Given the description of an element on the screen output the (x, y) to click on. 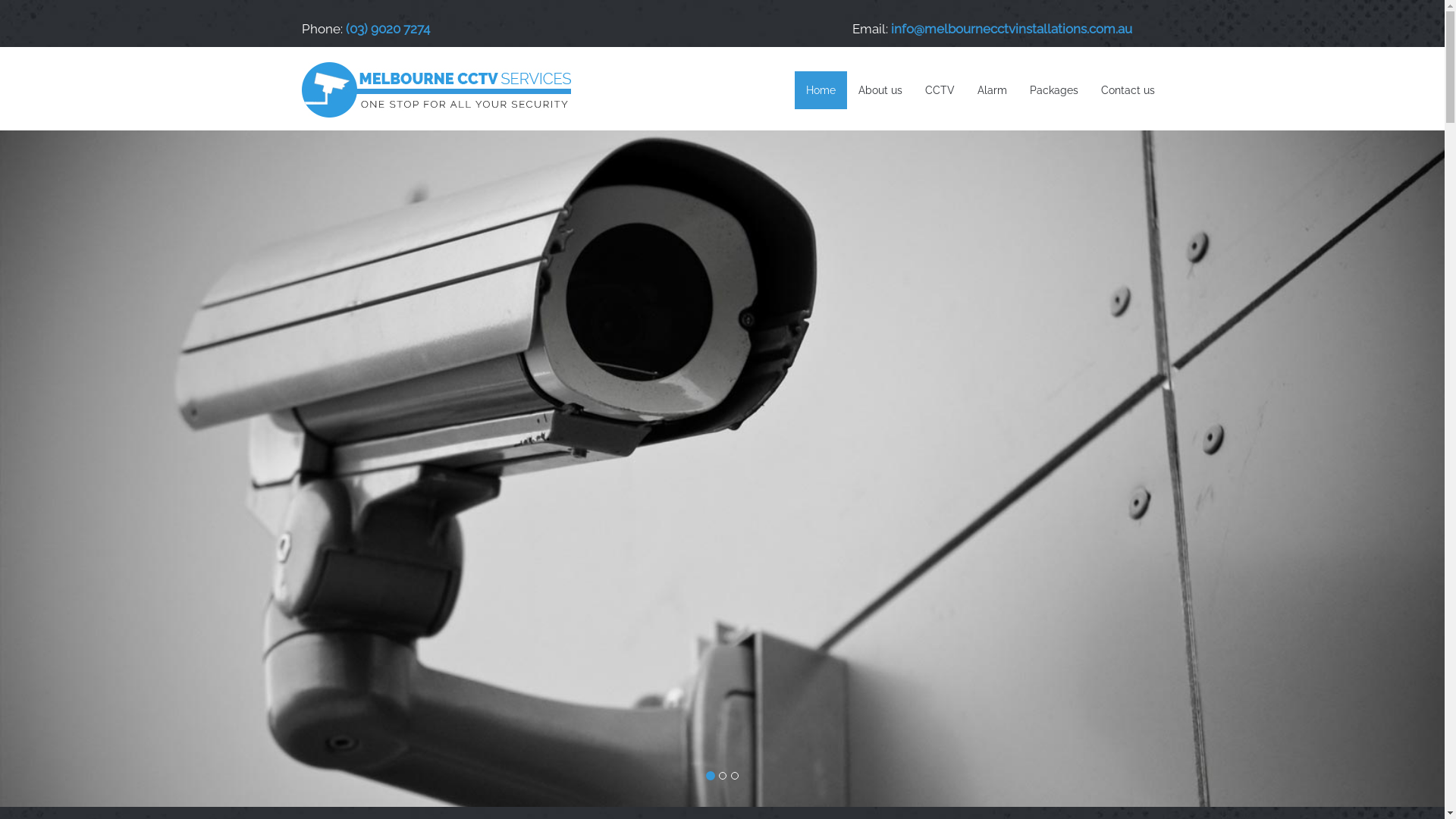
Alarm Element type: text (992, 90)
info@melbournecctvinstallations.com.au Element type: text (1010, 28)
CCTV Element type: text (939, 90)
(03) 9020 7274 Element type: text (387, 28)
Packages Element type: text (1052, 90)
About us Element type: text (879, 90)
Home Element type: text (820, 90)
Contact us Element type: text (1126, 90)
